Given the description of an element on the screen output the (x, y) to click on. 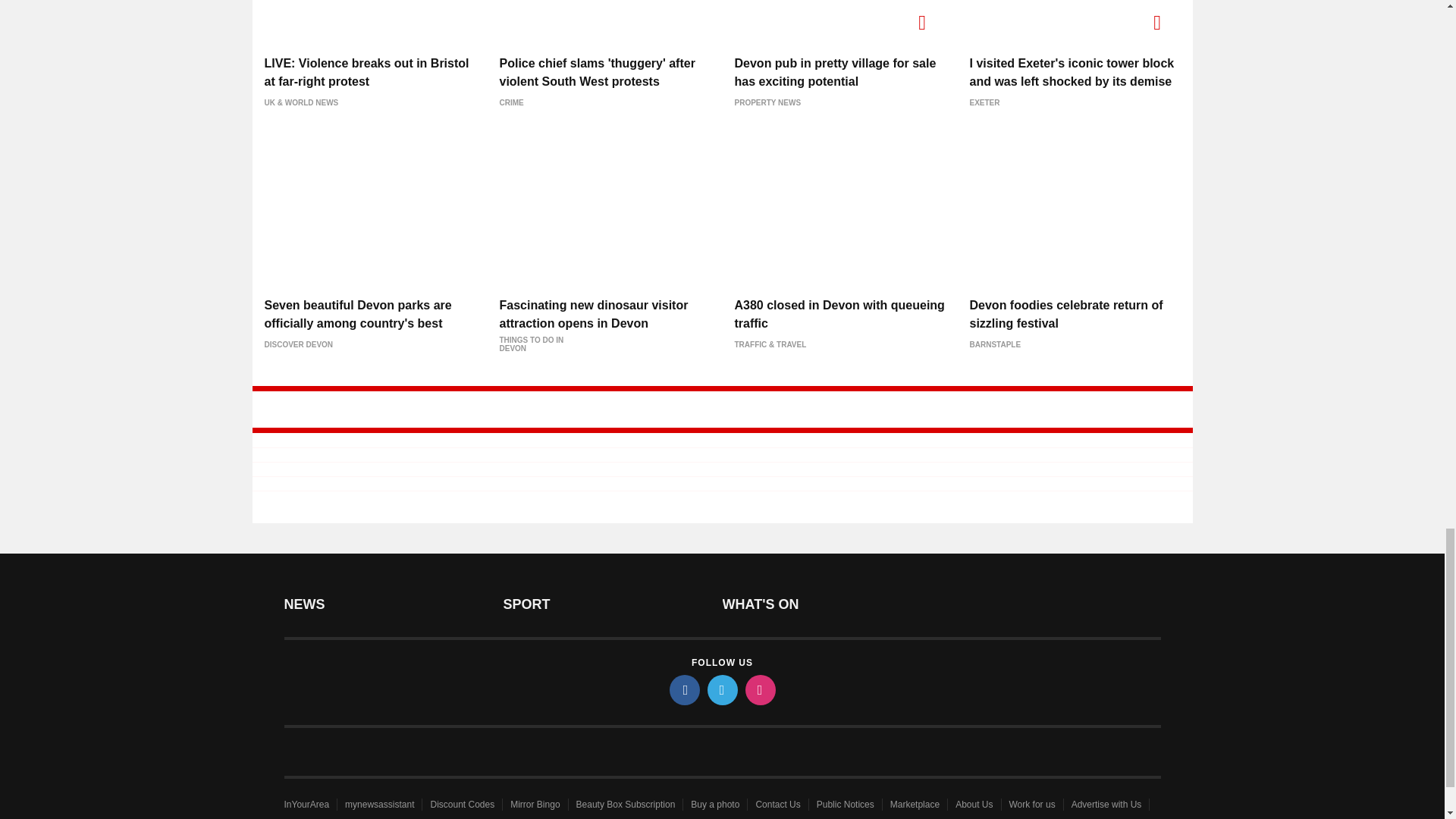
facebook (683, 689)
twitter (721, 689)
instagram (759, 689)
